Given the description of an element on the screen output the (x, y) to click on. 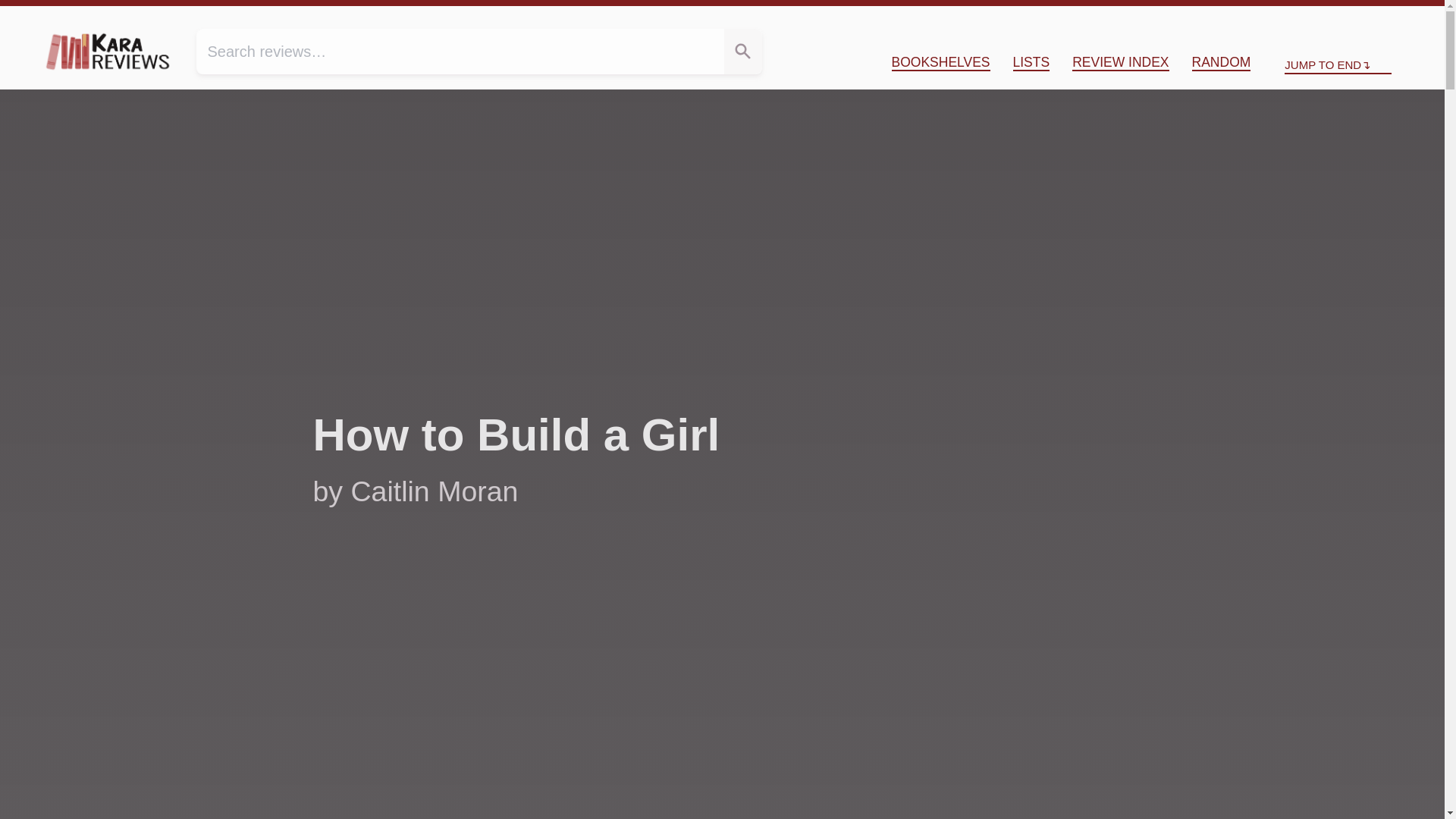
BOOKSHELVES (940, 62)
LISTS (1031, 62)
Are you feeling lucky? (1221, 62)
REVIEW INDEX (1120, 62)
End (1393, 18)
RANDOM (1221, 62)
Jump to footer (1393, 18)
JUMP TO END (1337, 65)
All my reviews, grouped by year and month (1120, 62)
Start (1317, 18)
Reviews organized by categories (940, 62)
Series, Top 10 lists, and more! (1031, 62)
Jump to top of page (1317, 18)
